Given the description of an element on the screen output the (x, y) to click on. 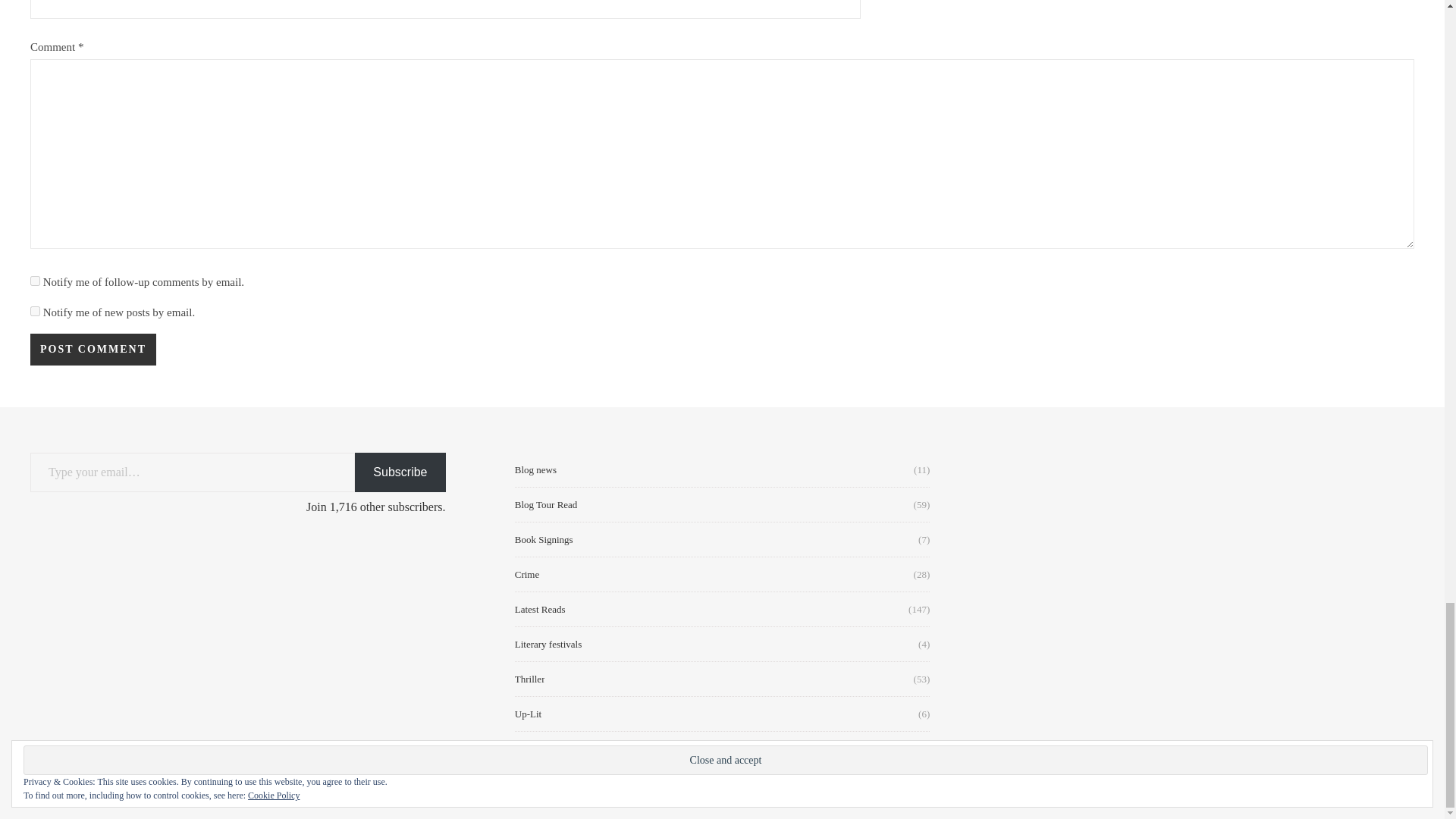
Optima Themes (135, 790)
Please fill in this field. (192, 472)
Book Signings (544, 539)
Blog news (535, 469)
Latest Reads (540, 609)
subscribe (35, 280)
Post Comment (92, 349)
subscribe (35, 311)
Up-Lit (528, 713)
Blog Tour Read (546, 504)
Crime (527, 574)
Post Comment (92, 349)
Subscribe (400, 472)
Literary festivals (547, 643)
Thriller (529, 678)
